Given the description of an element on the screen output the (x, y) to click on. 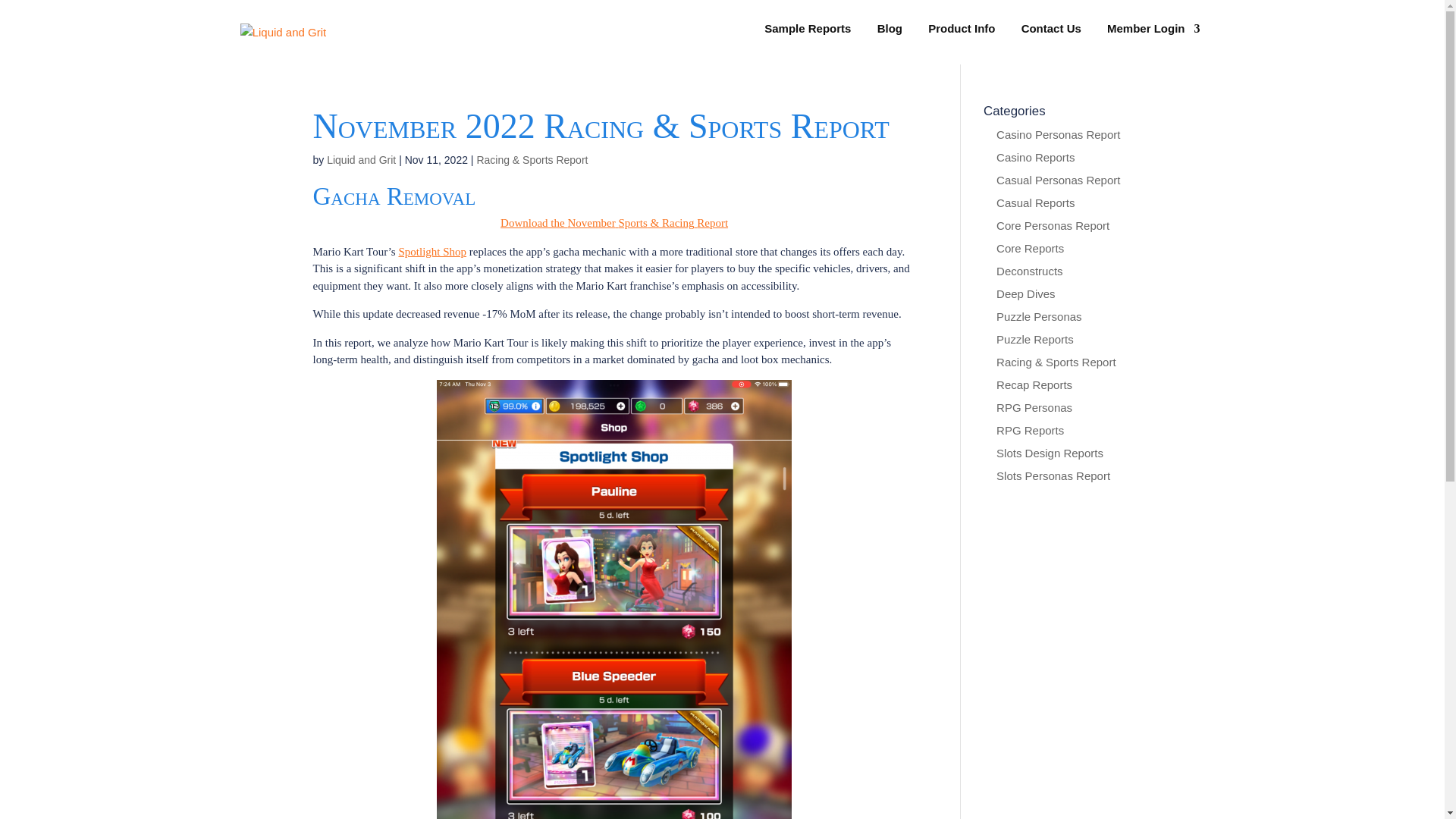
Deconstructs (1028, 270)
Casino Reports (1034, 156)
Recap Reports (1033, 384)
Puzzle Reports (1034, 338)
RPG Personas (1033, 407)
Liquid and Grit (361, 159)
Core Personas Report (1052, 225)
Sample Reports (807, 39)
Puzzle Personas (1038, 316)
Deep Dives (1025, 293)
